Given the description of an element on the screen output the (x, y) to click on. 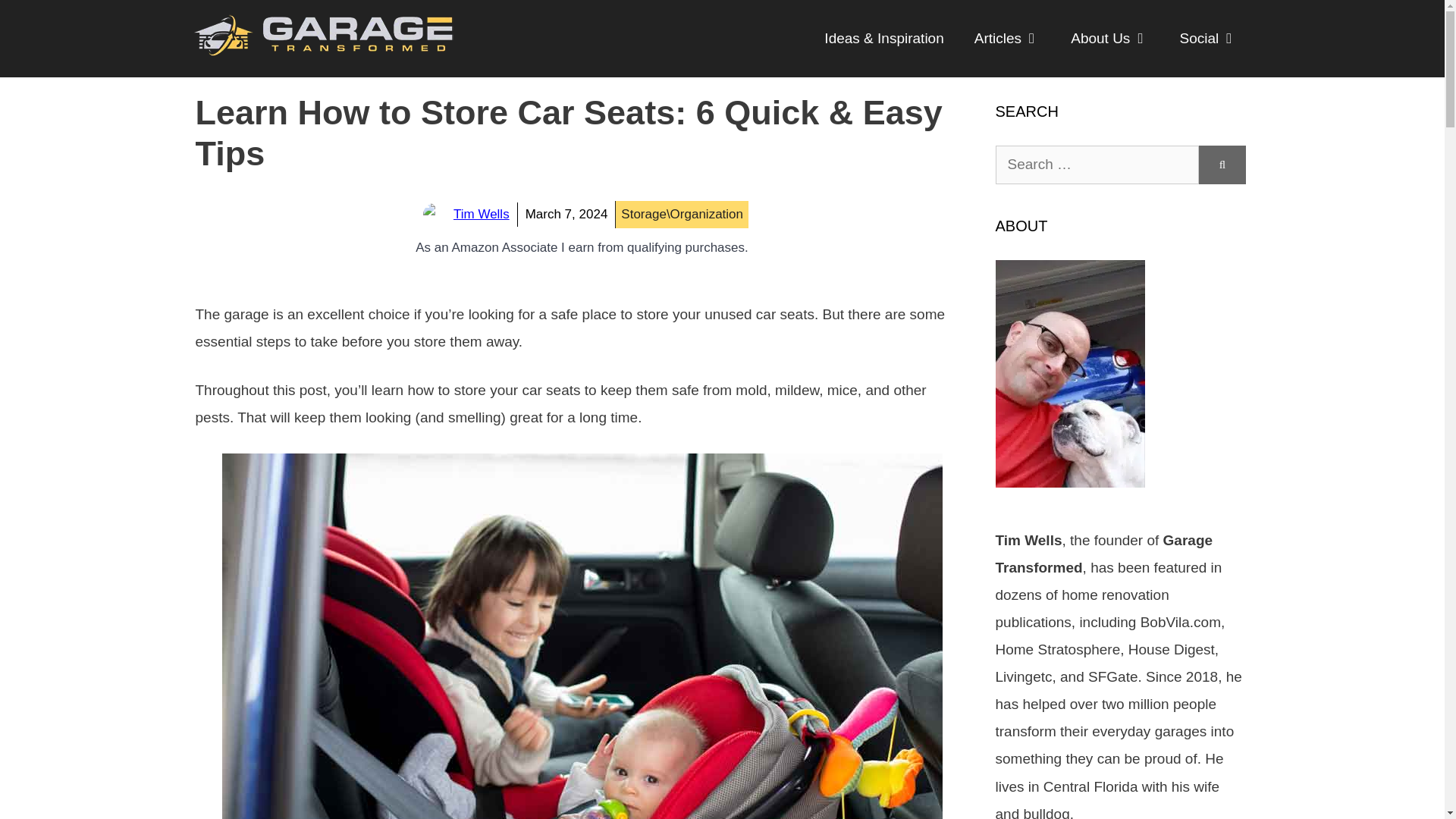
Tim Wells (480, 214)
About Us (1109, 38)
Search for: (1096, 164)
ABOUT (1069, 482)
Social (1208, 38)
Articles (1007, 38)
